Given the description of an element on the screen output the (x, y) to click on. 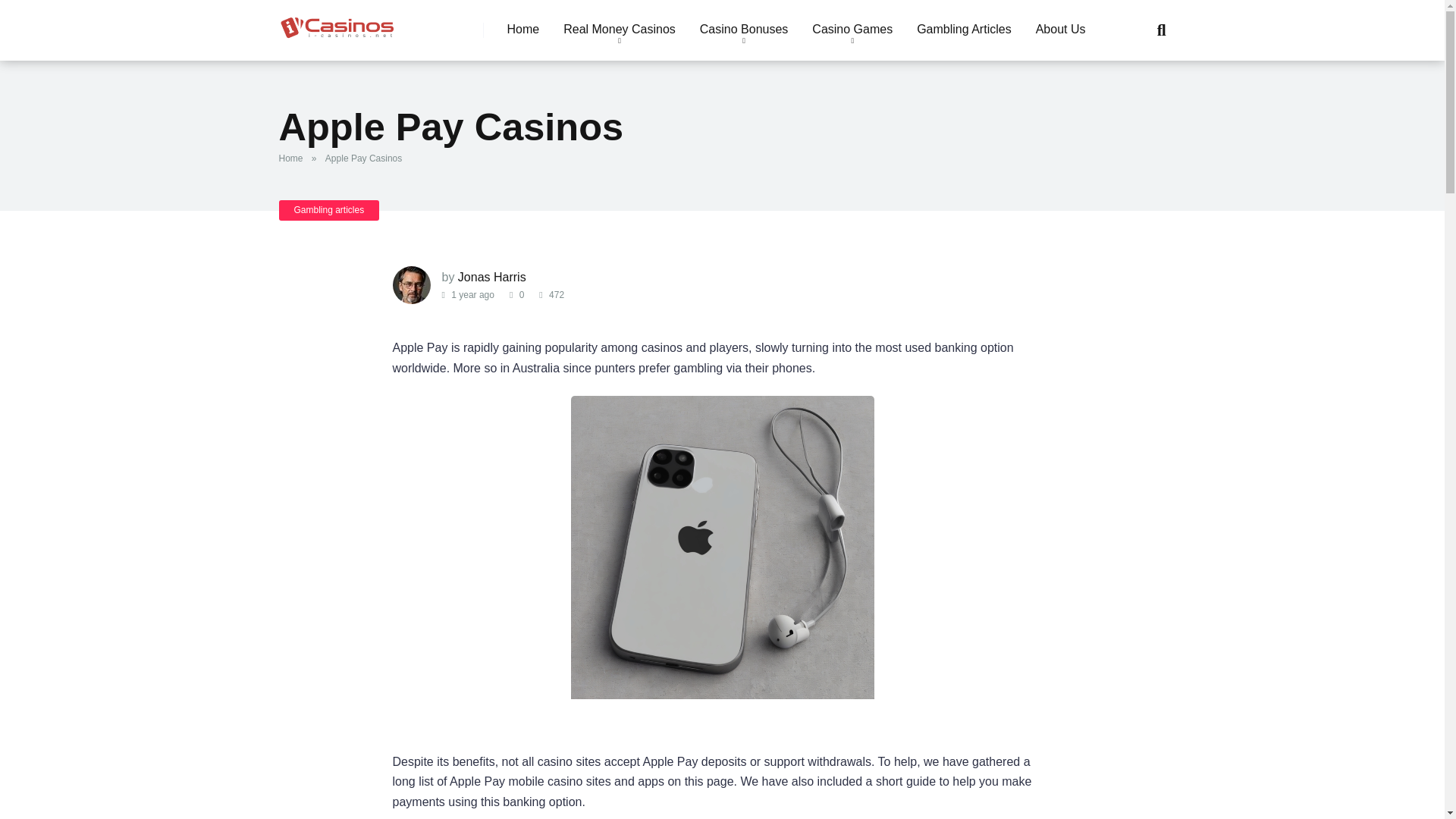
Real Money Casinos (619, 30)
Casino Bonuses (743, 30)
Posts by Jonas Harris (491, 277)
Home (523, 30)
Casino Games (851, 30)
Australian Online Casinos (336, 22)
